Given the description of an element on the screen output the (x, y) to click on. 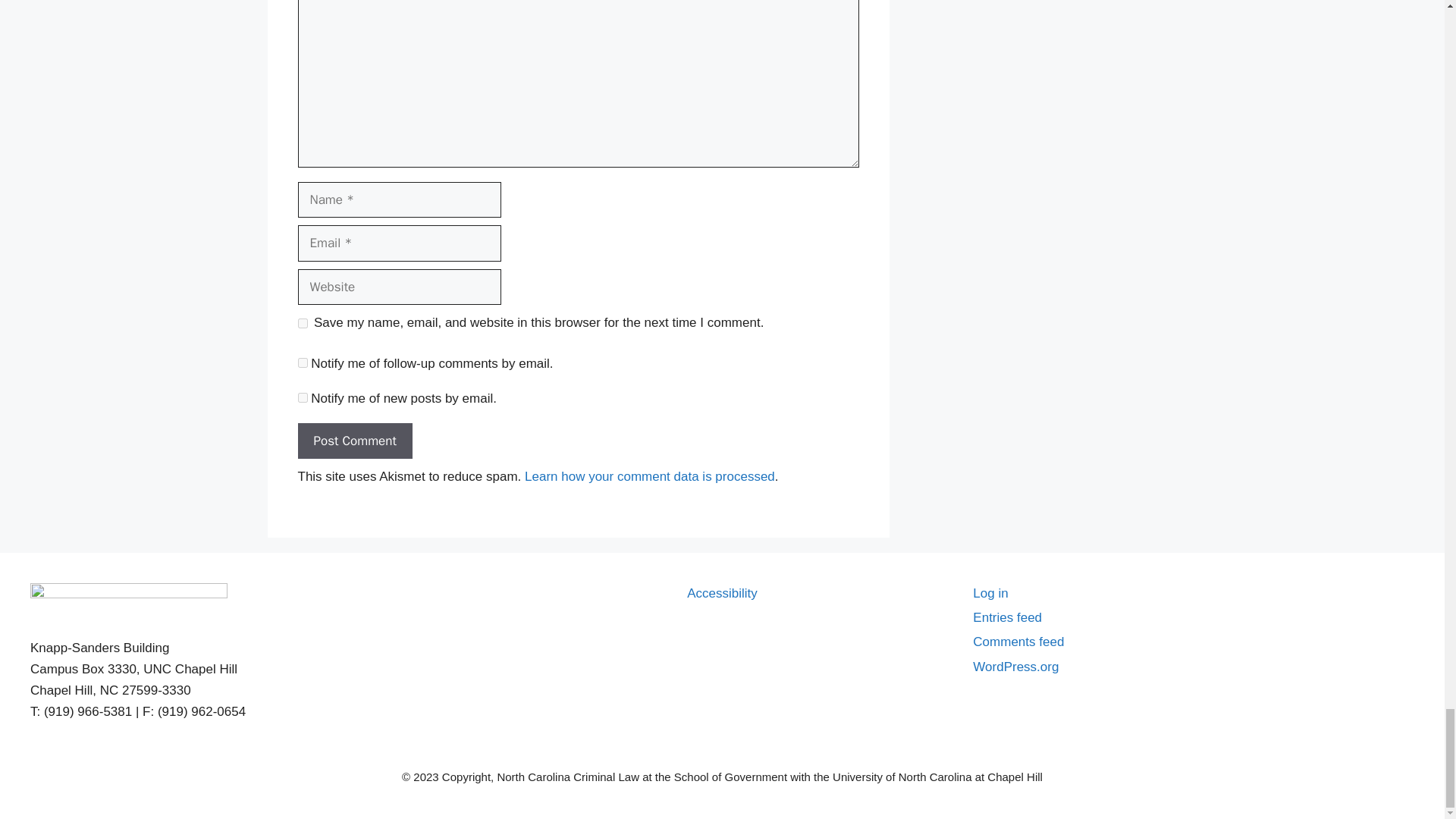
subscribe (302, 362)
yes (302, 323)
Post Comment (354, 441)
subscribe (302, 397)
